Given the description of an element on the screen output the (x, y) to click on. 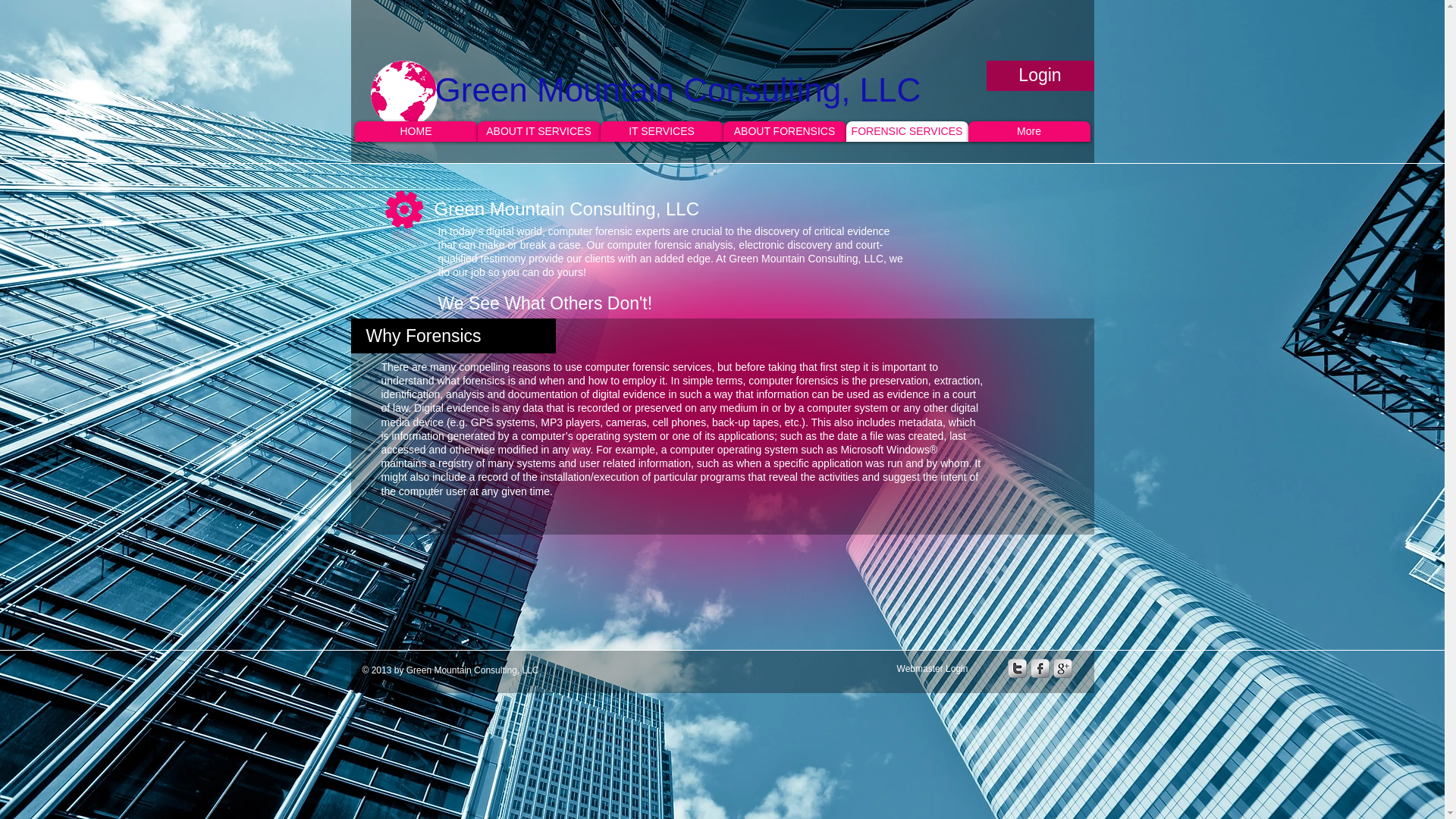
FORENSIC SERVICES (906, 131)
Login (1039, 75)
Webmaster Login (931, 668)
HOME (416, 131)
IT SERVICES (661, 131)
ABOUT FORENSICS (784, 131)
ABOUT IT SERVICES (538, 131)
